Given the description of an element on the screen output the (x, y) to click on. 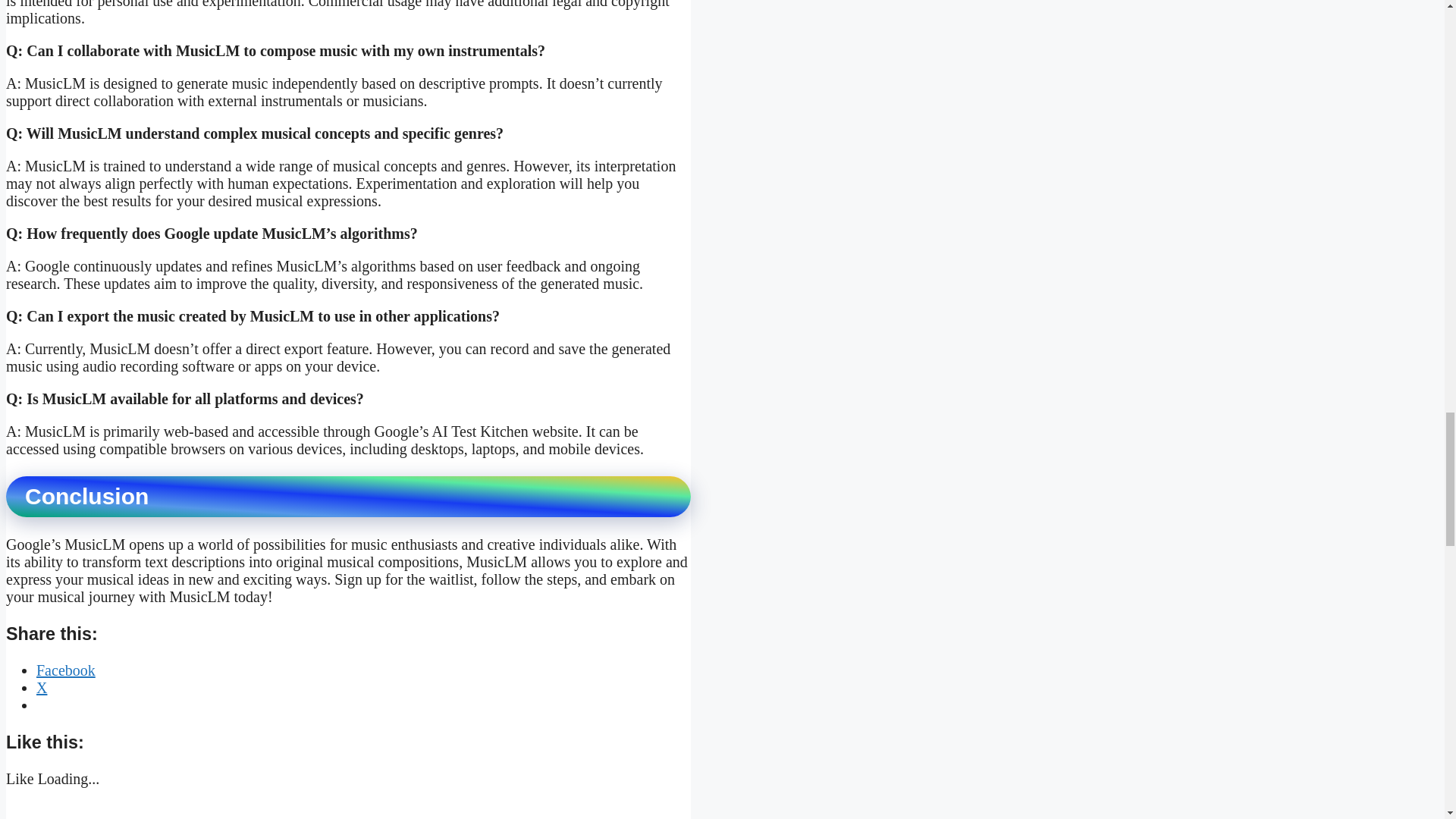
Facebook (66, 669)
Click to share on Facebook (66, 669)
